Given the description of an element on the screen output the (x, y) to click on. 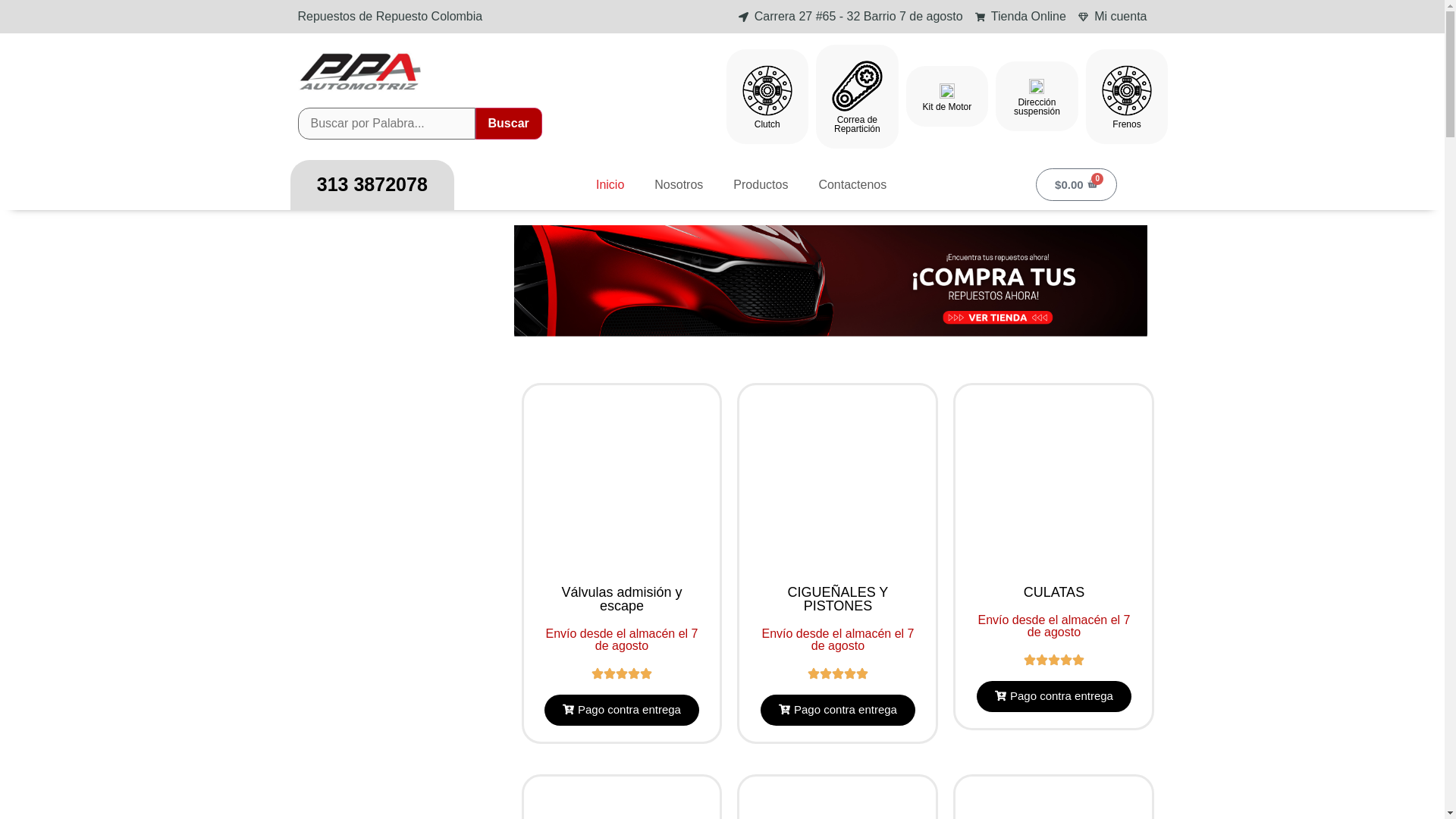
Buscar (507, 123)
Clutch (767, 123)
Inicio (609, 184)
Productos (760, 184)
Nosotros (678, 184)
Frenos (1126, 123)
Contactenos (852, 184)
Kit de Motor (947, 106)
